Given the description of an element on the screen output the (x, y) to click on. 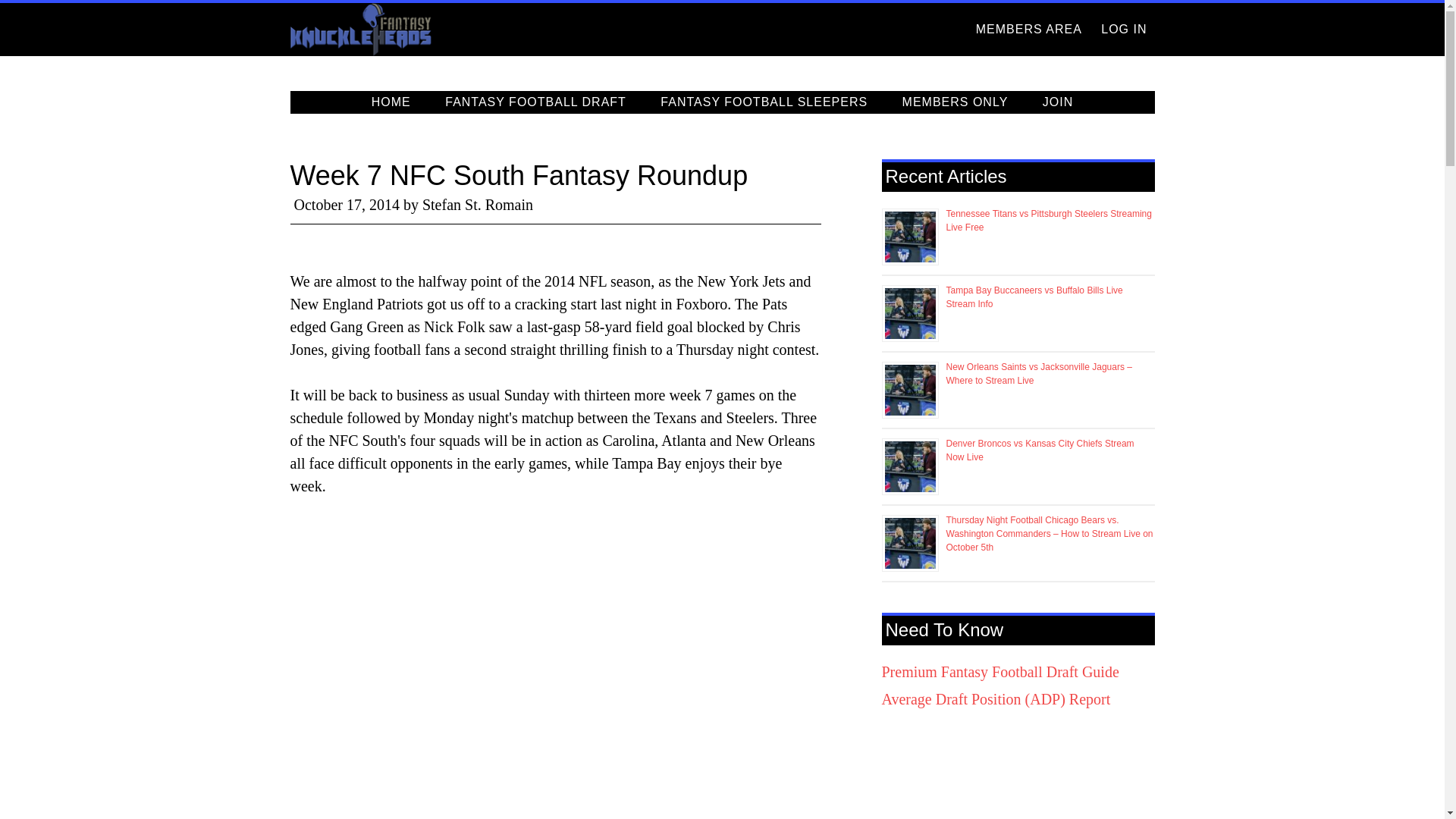
Tampa Bay Buccaneers vs Buffalo Bills Live Stream Info (1034, 297)
Denver Broncos vs Kansas City Chiefs Stream Now Live (1040, 450)
MEMBERS ONLY (954, 101)
LOG IN (1123, 29)
FANTASY FOOTBALL SLEEPERS (763, 101)
JOIN (1057, 101)
Advertisement (555, 787)
Tennessee Titans vs Pittsburgh Steelers Streaming Live Free (1048, 220)
FANTASY KNUCKLEHEADS (425, 29)
HOME (391, 101)
